Given the description of an element on the screen output the (x, y) to click on. 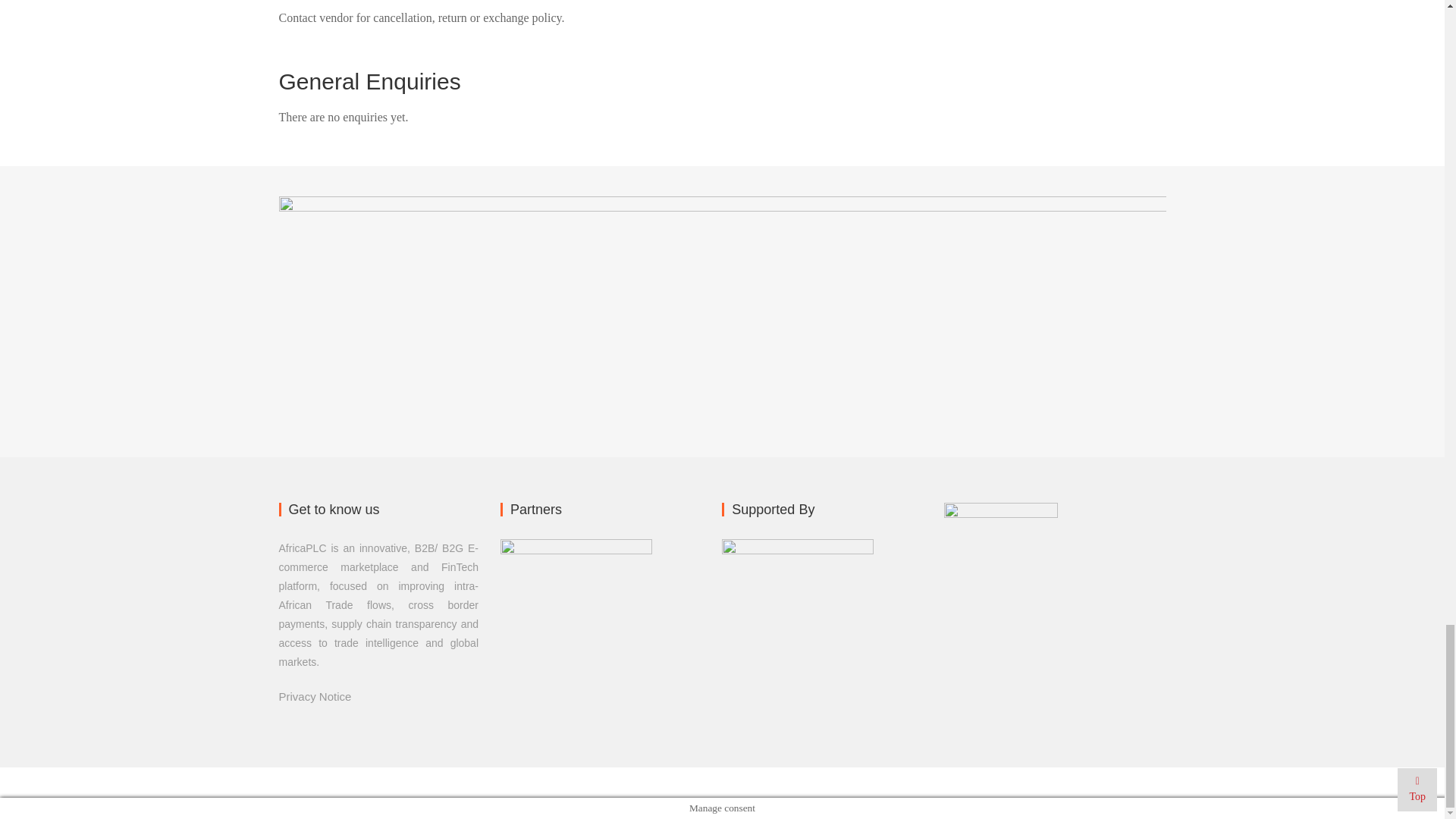
Partners (797, 623)
